Given the description of an element on the screen output the (x, y) to click on. 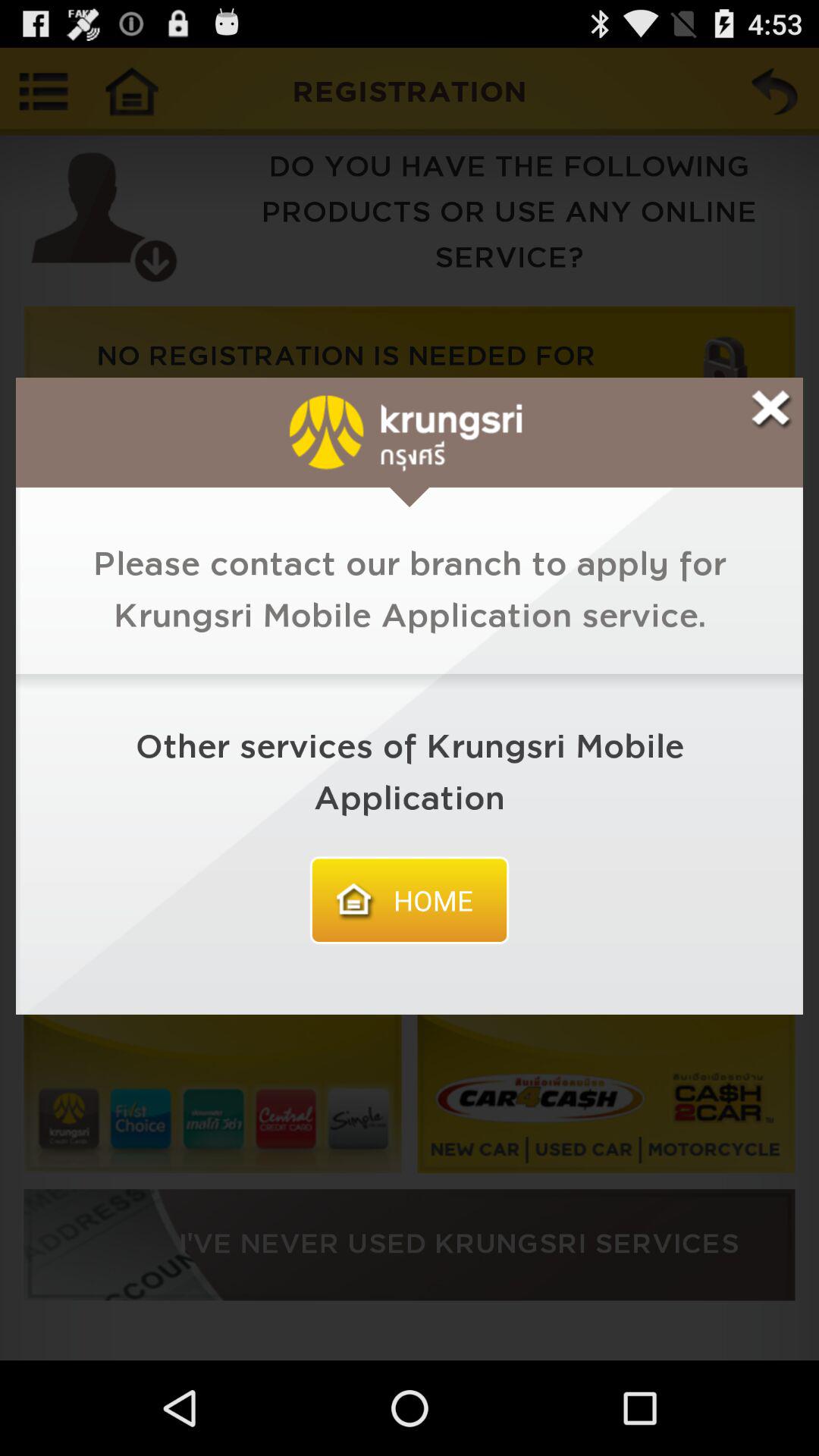
close screen (771, 409)
